Given the description of an element on the screen output the (x, y) to click on. 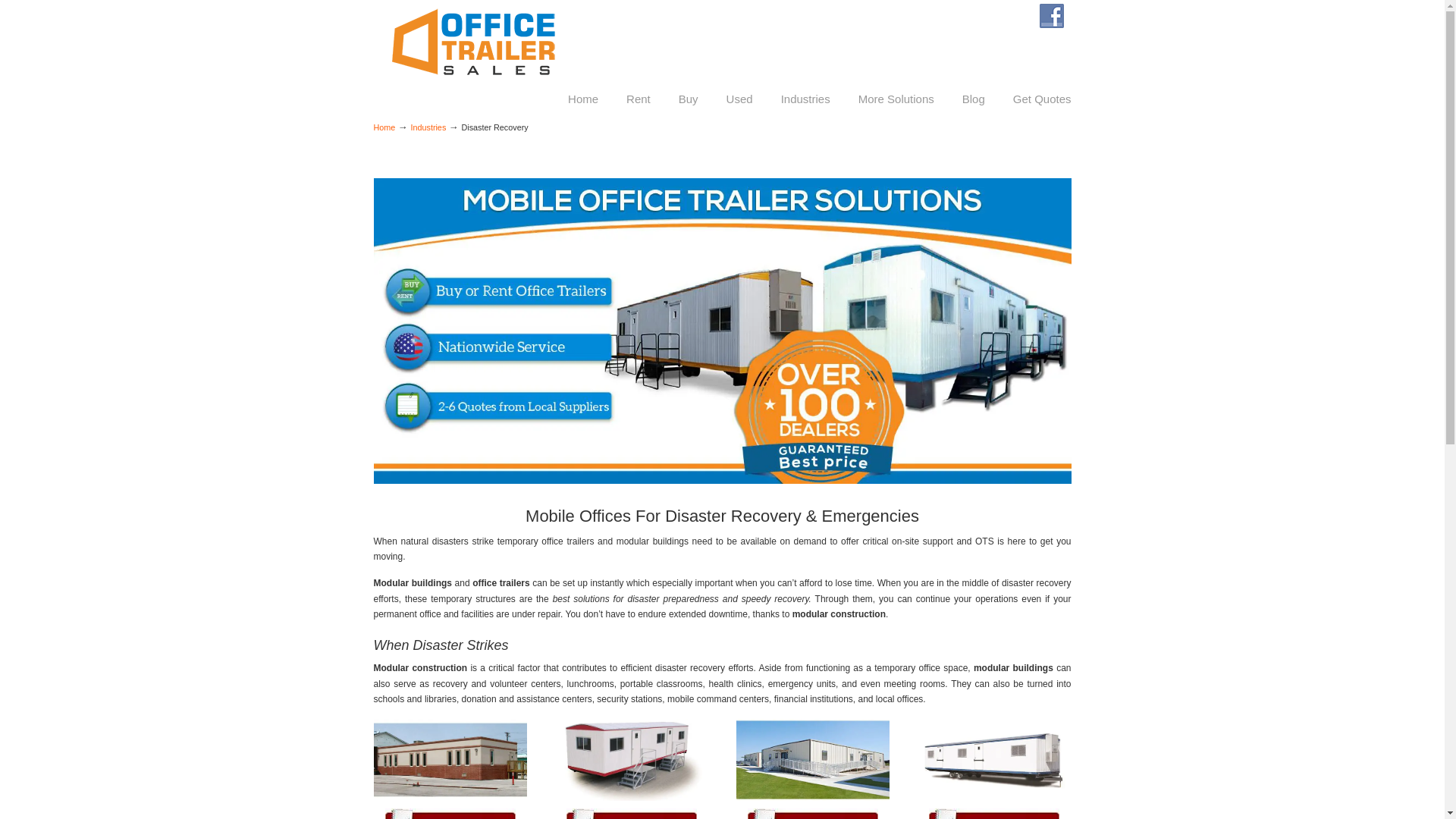
Home (383, 126)
Get Quotes (1041, 99)
Industries (805, 99)
More Solutions (896, 99)
Office Trailer Sales (472, 42)
Industries (427, 126)
Buy (688, 99)
Home (582, 99)
Office Trailer Sales (472, 42)
Rent (638, 99)
Blog (973, 99)
Used (739, 99)
Follow Us on Facebook (1050, 15)
